Given the description of an element on the screen output the (x, y) to click on. 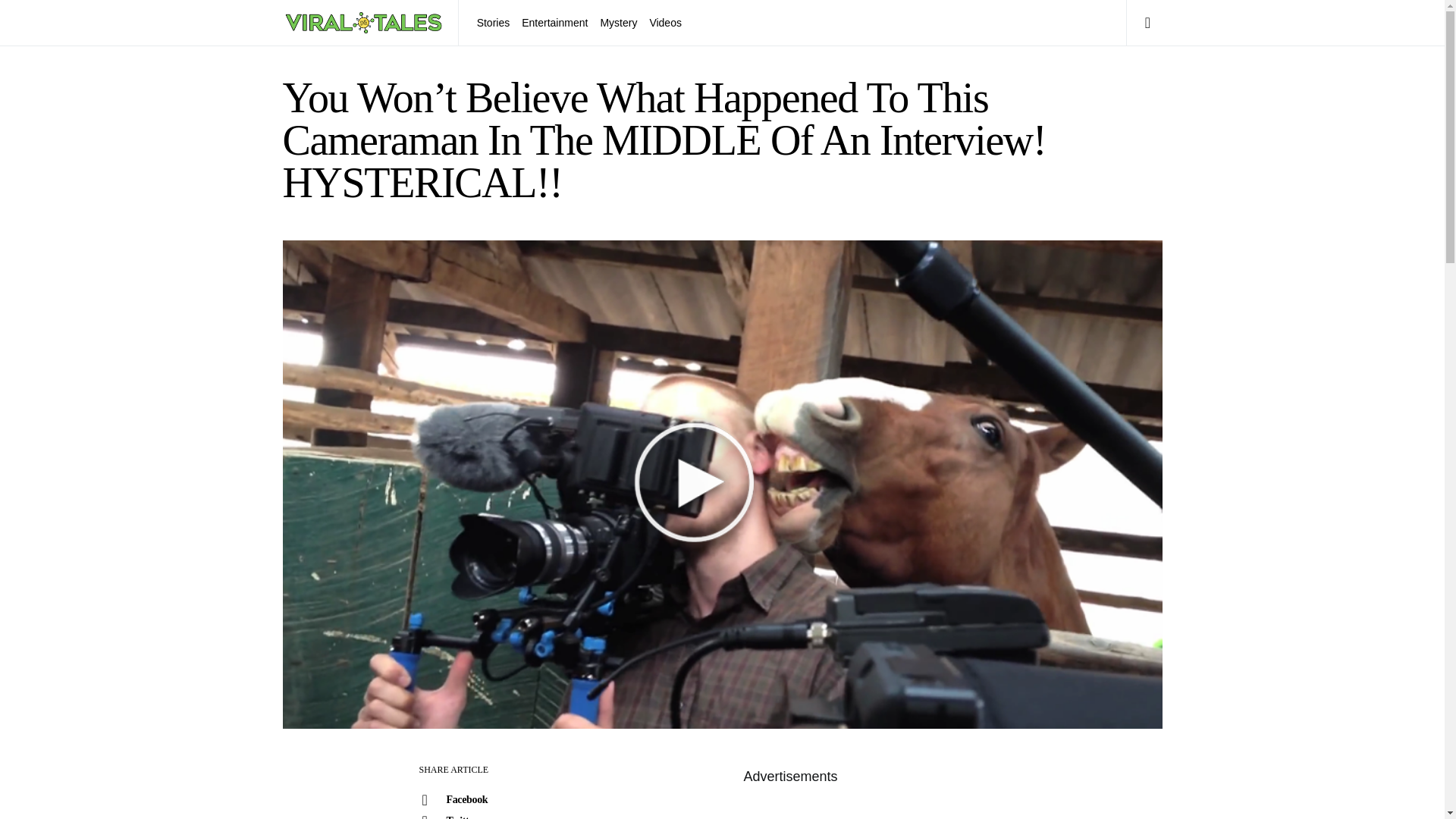
Mystery (618, 22)
Entertainment (554, 22)
Facebook (470, 799)
Twitter (470, 814)
